Given the description of an element on the screen output the (x, y) to click on. 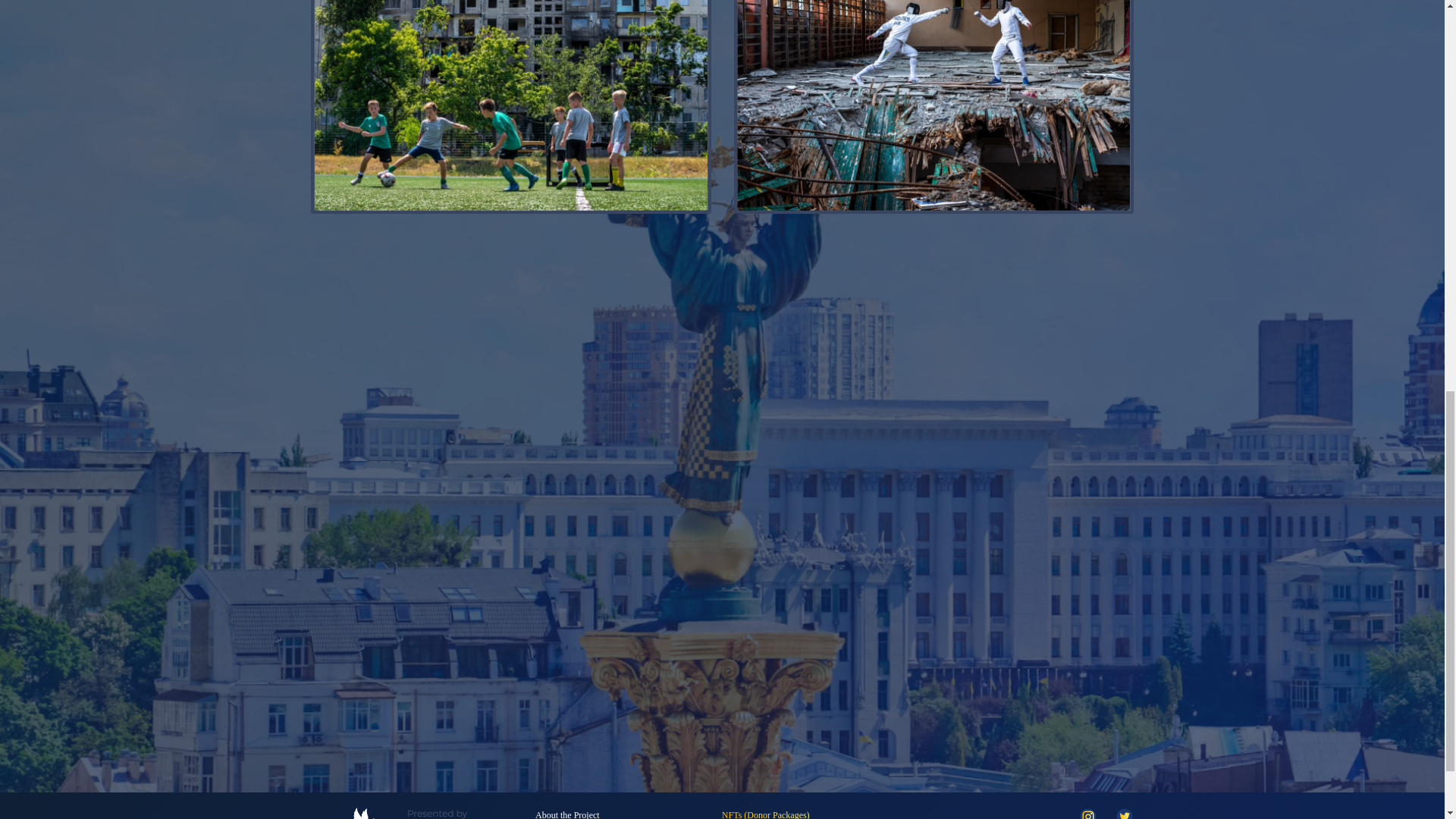
About the Project (567, 814)
